Given the description of an element on the screen output the (x, y) to click on. 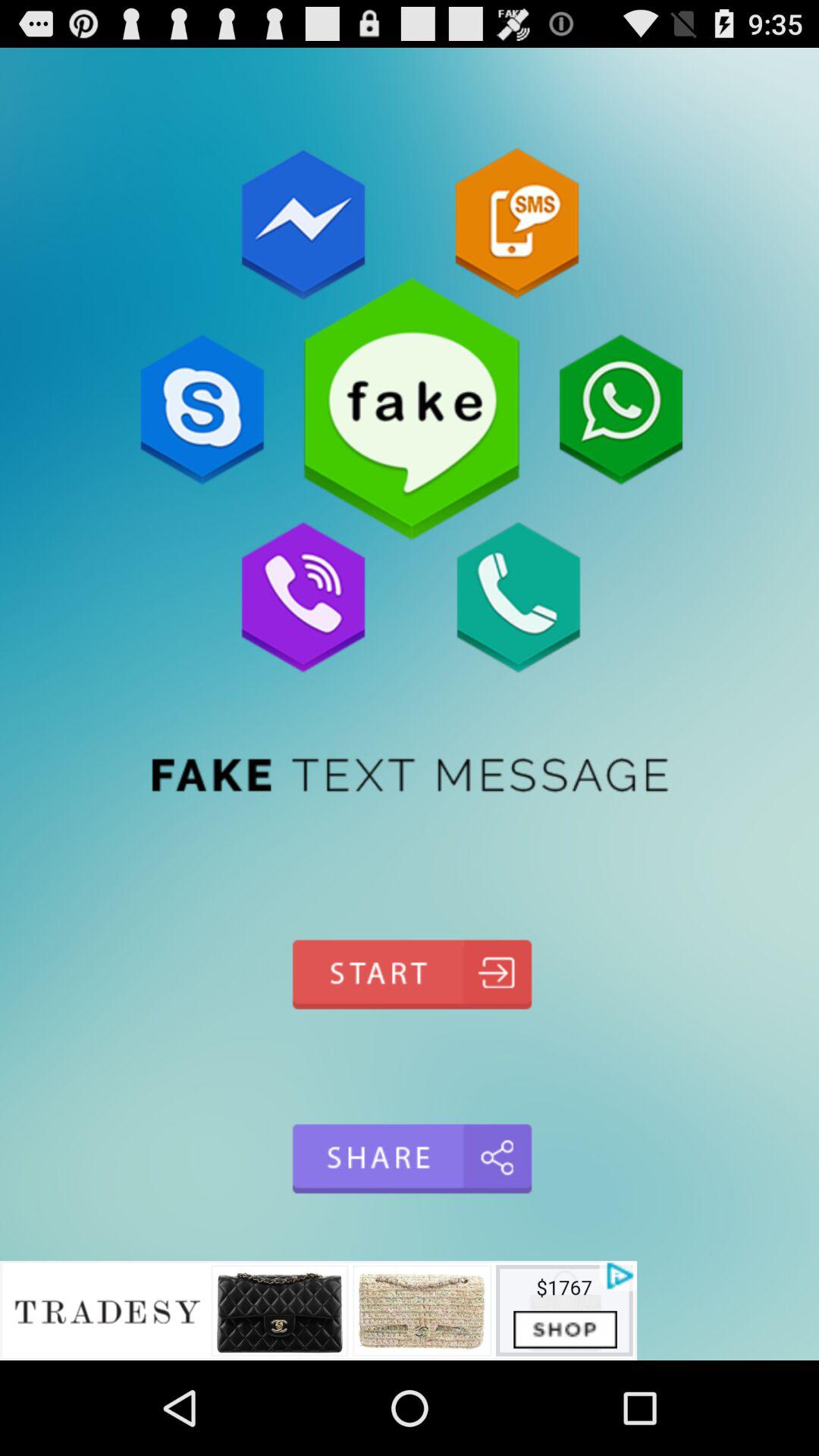
go to start (409, 974)
